Given the description of an element on the screen output the (x, y) to click on. 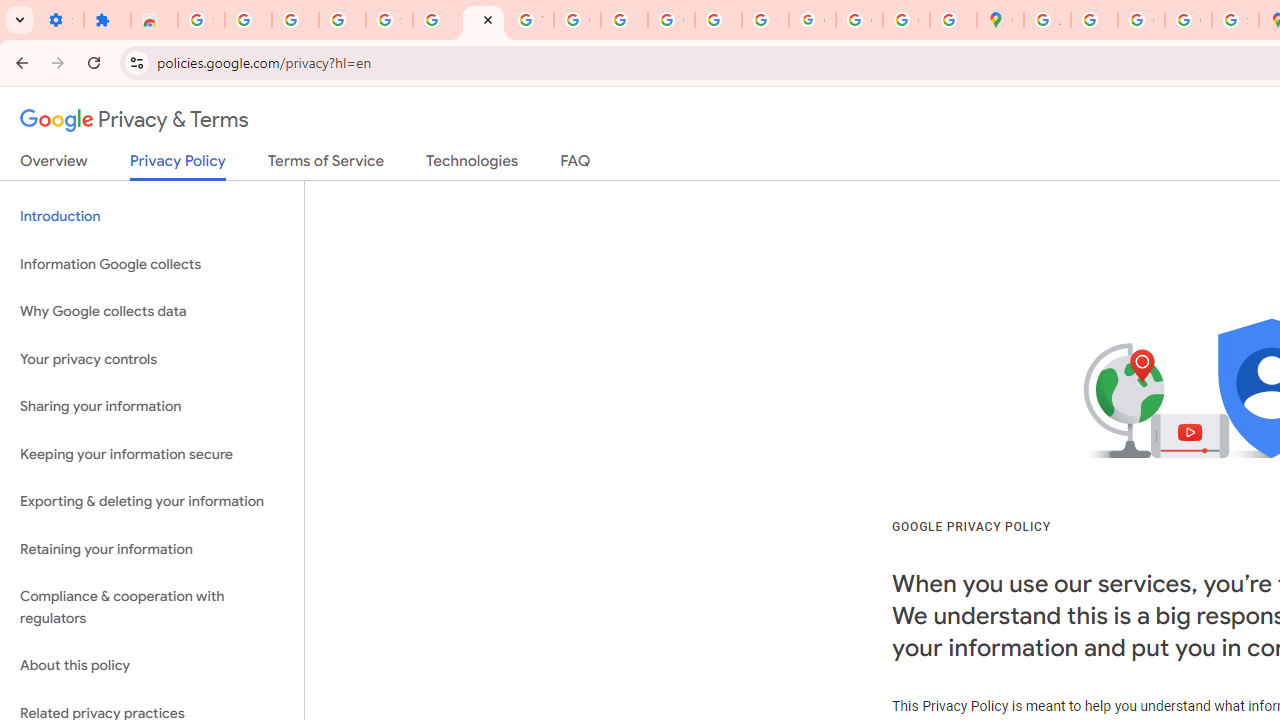
Safety in Our Products - Google Safety Center (1235, 20)
Sign in - Google Accounts (201, 20)
Create your Google Account (1140, 20)
